Given the description of an element on the screen output the (x, y) to click on. 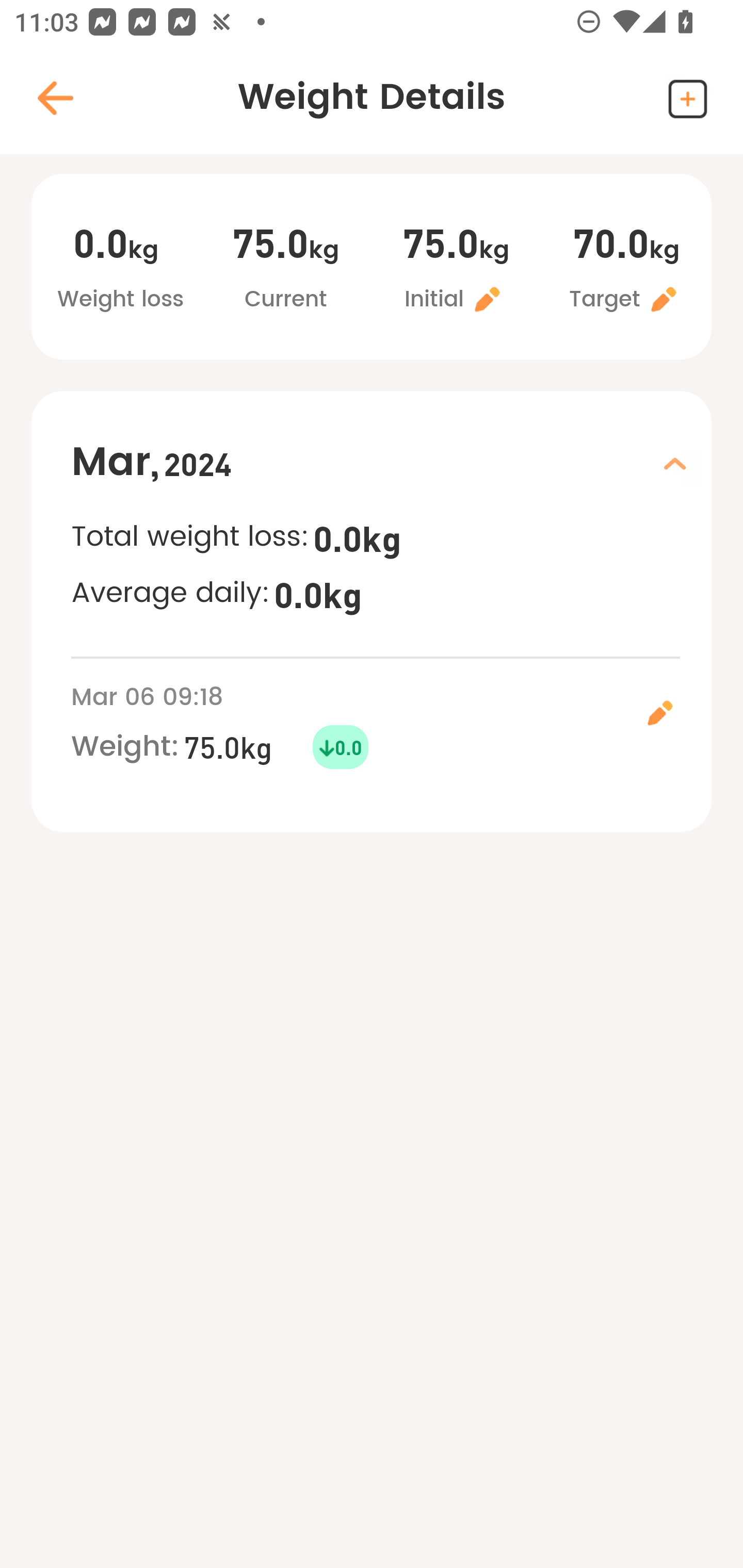
75.0kg Initial (455, 268)
70.0kg Target (625, 268)
Mar 06 09:18 Weight: 75.0kg 0.0 (391, 723)
